Given the description of an element on the screen output the (x, y) to click on. 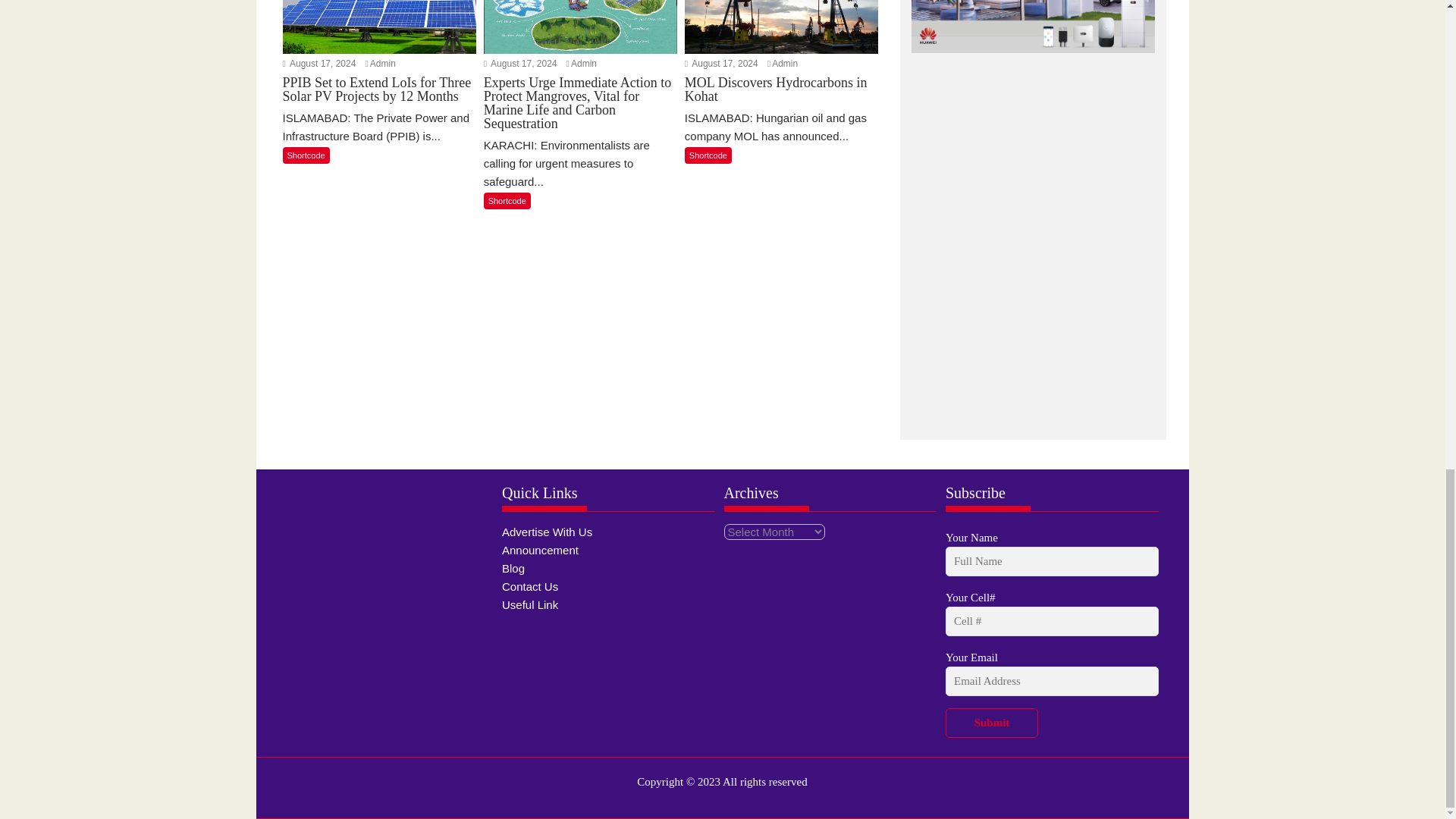
Submit (991, 722)
Admin (583, 63)
Admin (784, 63)
Admin (382, 63)
